Given the description of an element on the screen output the (x, y) to click on. 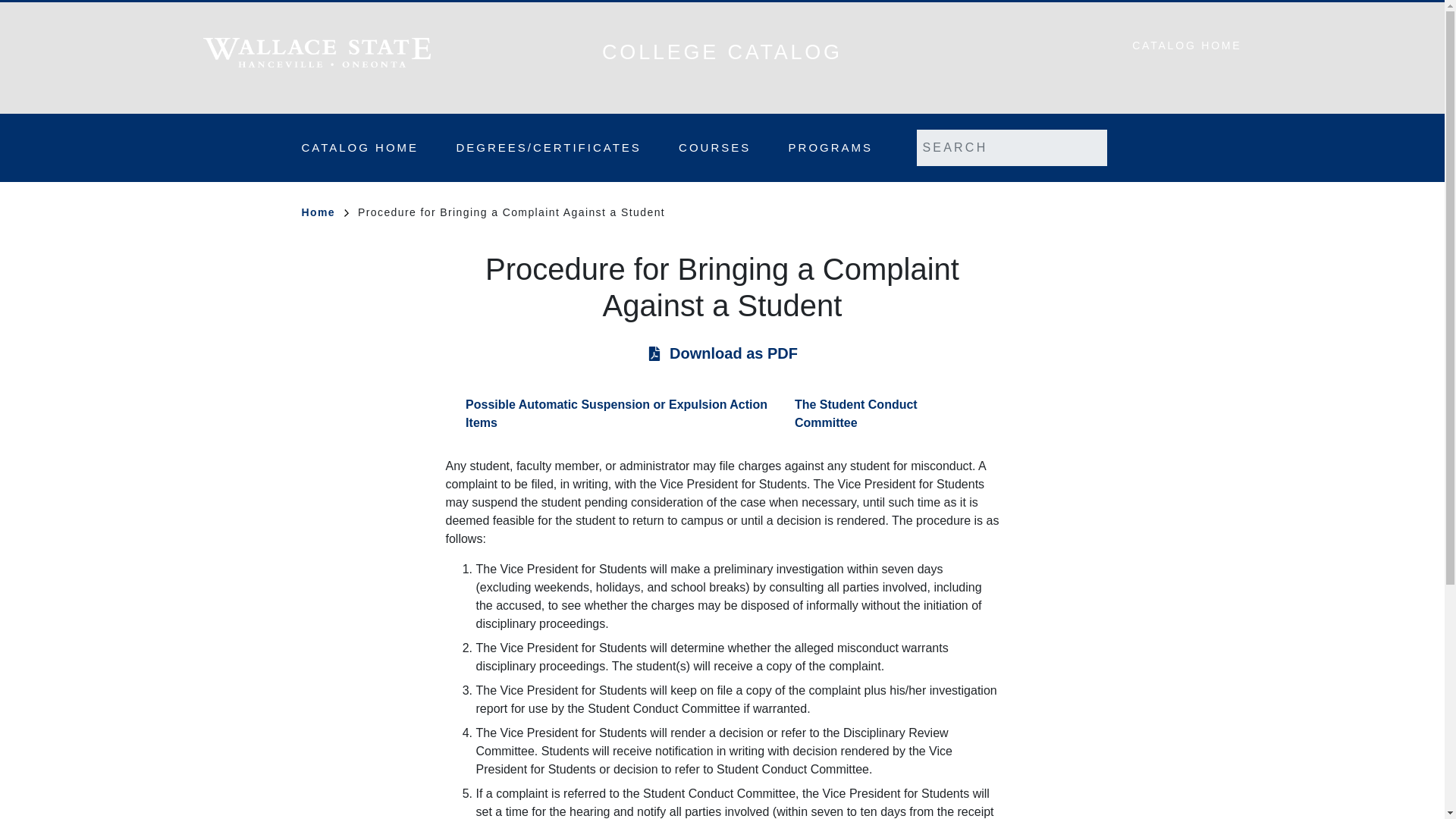
The Student Conduct Committee (896, 414)
COURSES (714, 147)
CATALOG HOME (1186, 45)
PROGRAMS (831, 147)
Download as PDF (733, 353)
Possible Automatic Suspension or Expulsion Action Items (619, 414)
CATALOG HOME (360, 147)
Search (1124, 147)
Search (1124, 147)
